Given the description of an element on the screen output the (x, y) to click on. 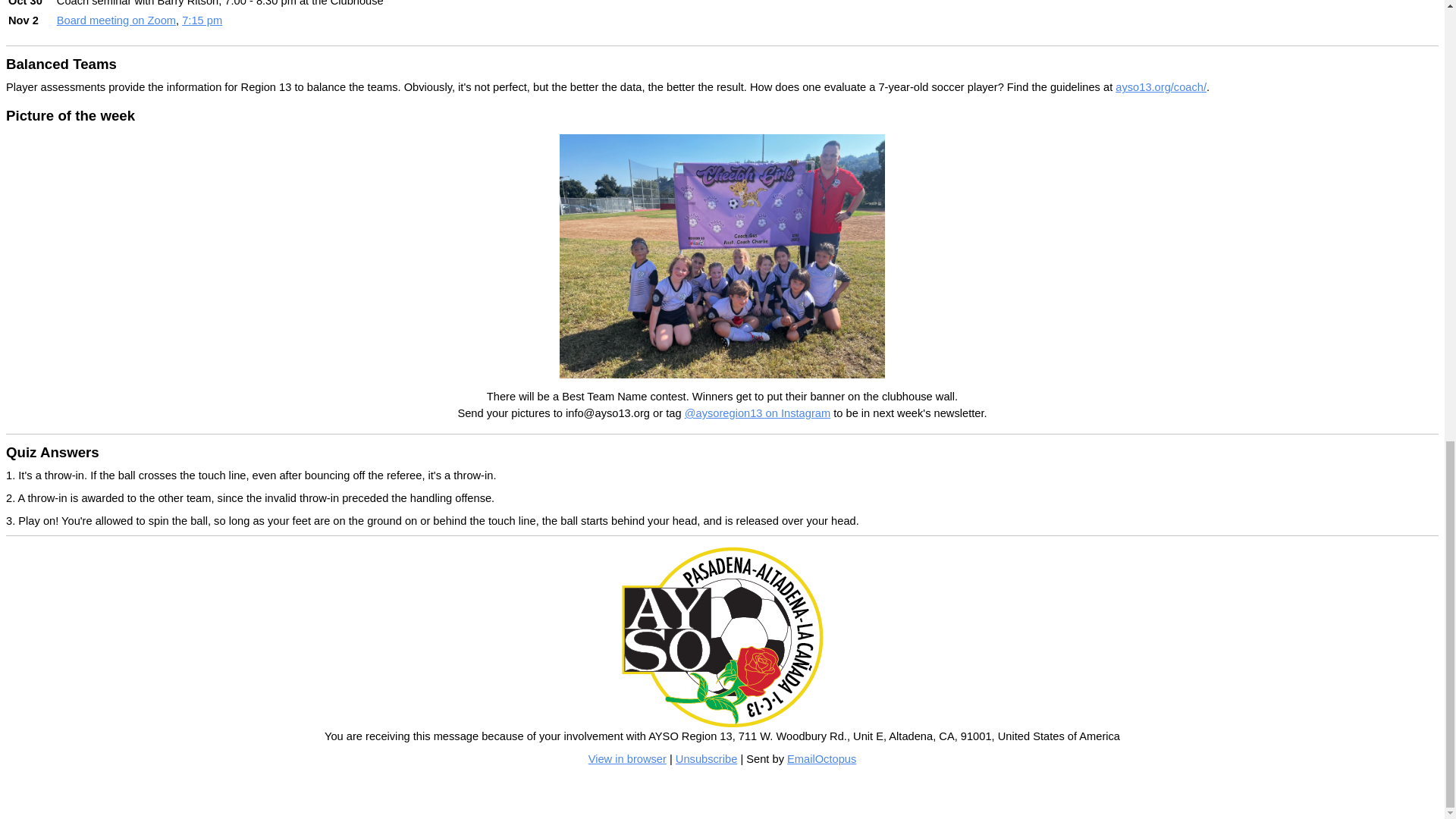
Unsubscribe (705, 758)
EmailOctopus (821, 758)
7:15 pm (202, 20)
Board meeting on Zoom (116, 20)
View in browser (627, 758)
